Given the description of an element on the screen output the (x, y) to click on. 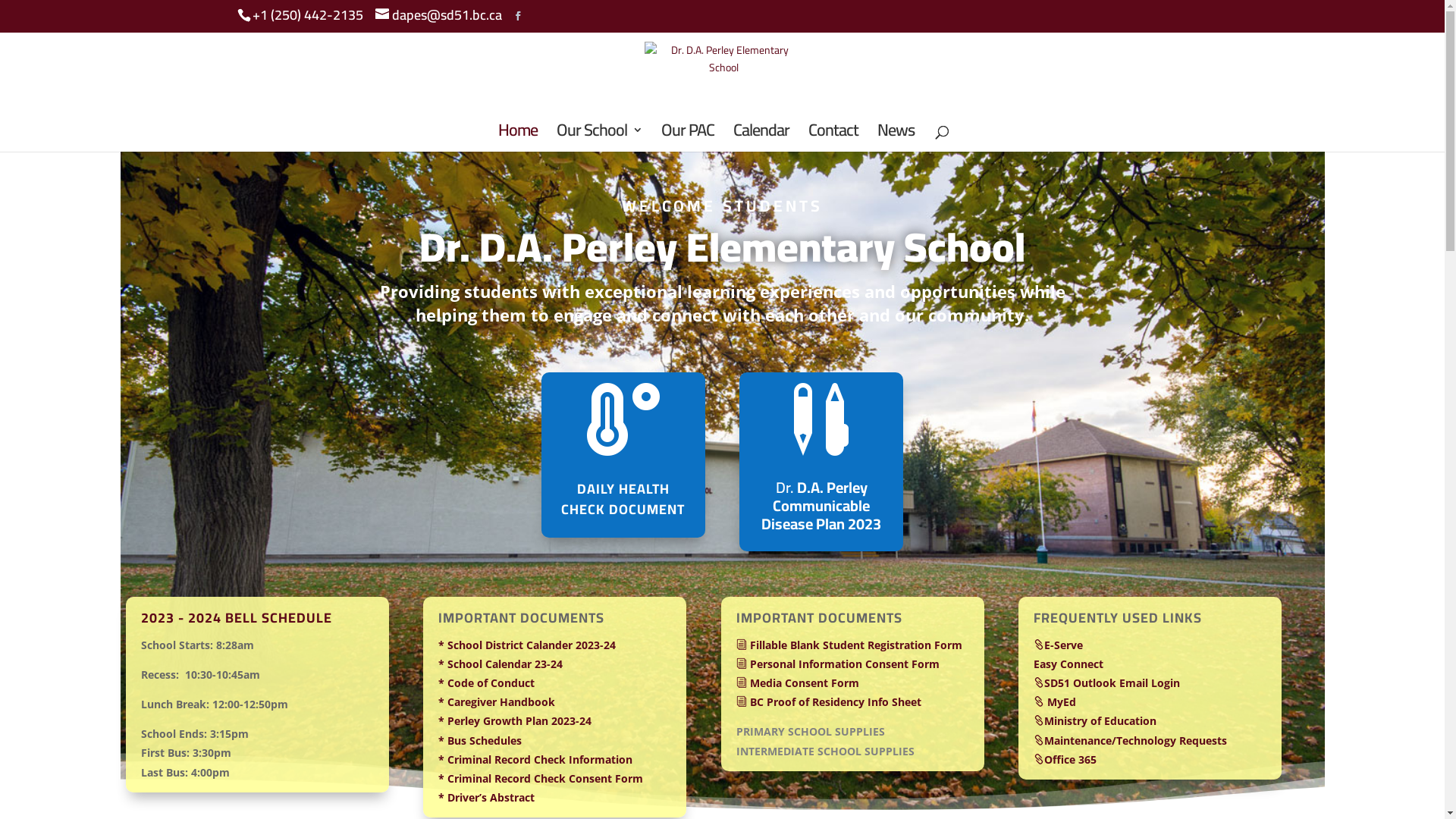
* Criminal Record Check Consent Form Element type: text (540, 778)
dapes@sd51.bc.ca Element type: text (437, 14)
Media Consent Form Element type: text (797, 682)
Home Element type: text (516, 137)
* School Calendar 23-24 Element type: text (500, 663)
Personal Information Consent Form Element type: text (837, 663)
INTERMEDIATE SCHOOL SUPPLIES Element type: text (825, 750)
BC Proof of Residency Info Sheet Element type: text (828, 701)
SD51 Outlook Email Login Element type: text (1106, 682)
Dr. Element type: text (784, 487)
Office 365 Element type: text (1064, 759)
Calendar Element type: text (760, 137)
* School District Calander 2023-24 Element type: text (526, 644)
News Element type: text (894, 137)
* Criminal Record Check Information Element type: text (535, 759)
MyEd Element type: text (1054, 701)
* Perley Growth Plan 2023-24 Element type: text (514, 720)
* Caregiver Handbook Element type: text (496, 701)
E-Serve Element type: text (1057, 644)
PRIMARY SCHOOL SUPPLIES Element type: text (810, 731)
Contact Element type: text (833, 137)
* Code of Conduct Element type: text (486, 682)
Ministry of Education Element type: text (1094, 720)
D.A. Perley Communicable Disease Plan 2023 Element type: text (821, 505)
* Bus Schedules Element type: text (479, 740)
Our PAC Element type: text (687, 137)
Our School Element type: text (599, 137)
Maintenance/Technology Requests Element type: text (1129, 740)
Easy Connect Element type: text (1068, 663)
Fillable Blank Student Registration Form Element type: text (849, 644)
